Given the description of an element on the screen output the (x, y) to click on. 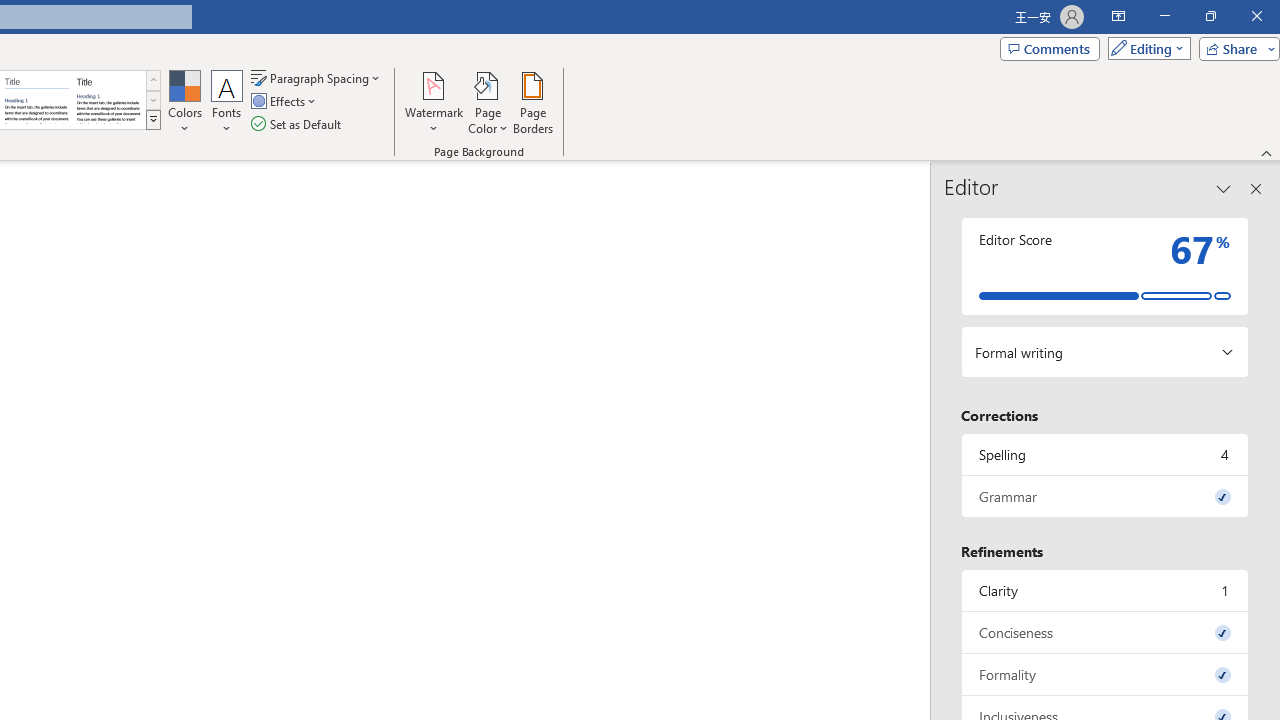
Editing (1144, 47)
Spelling, 4 issues. Press space or enter to review items. (1105, 454)
Grammar, 0 issues. Press space or enter to review items. (1105, 495)
Clarity, 1 issue. Press space or enter to review items. (1105, 590)
Colors (184, 102)
Editor Score 67% (1105, 266)
Close (1256, 16)
Comments (1049, 48)
Set as Default (298, 124)
Class: NetUIImage (153, 119)
Share (1235, 48)
Page Borders... (532, 102)
Word 2010 (36, 100)
